Given the description of an element on the screen output the (x, y) to click on. 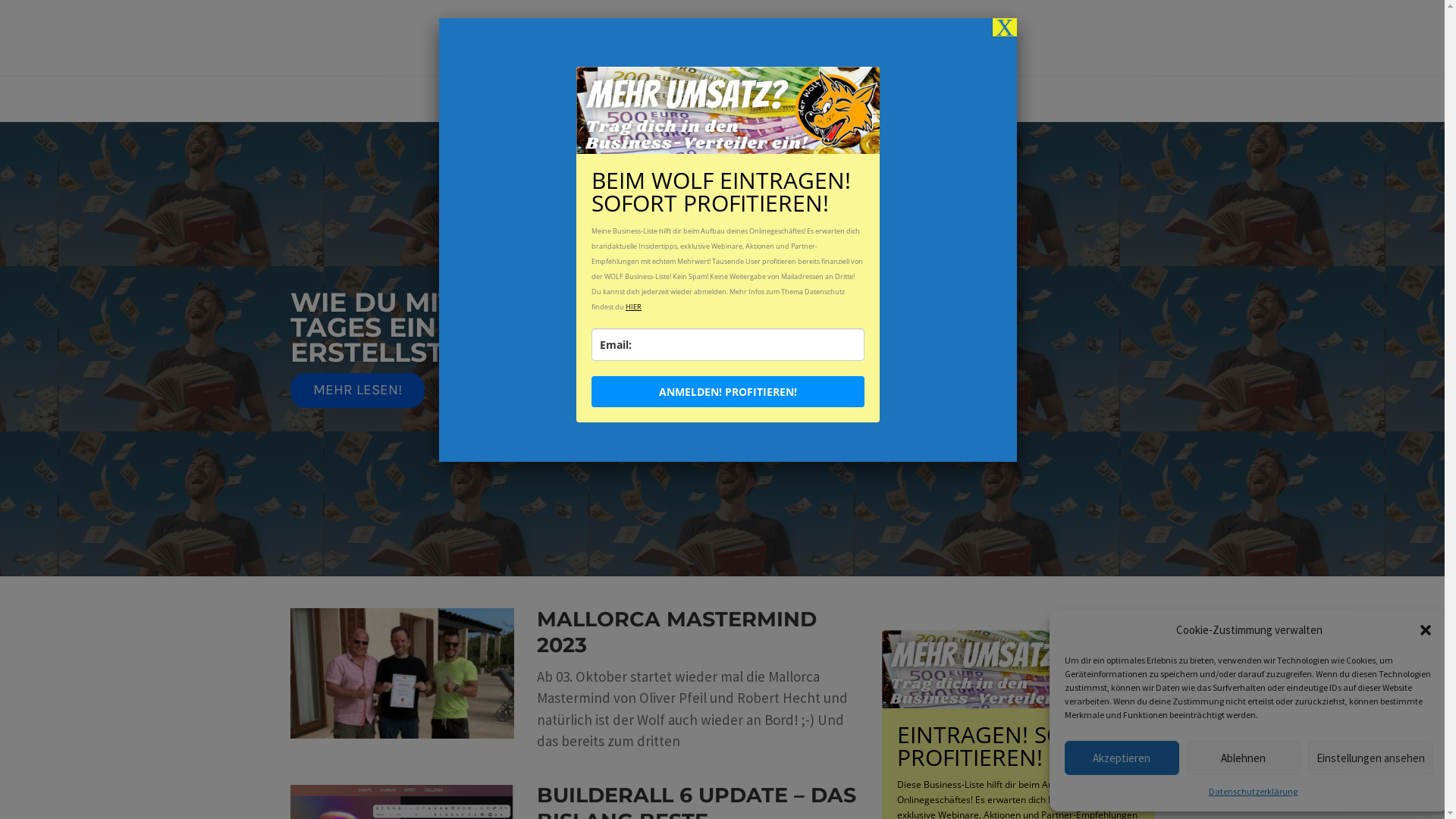
MALLORCA MASTERMIND 2023 Element type: text (676, 631)
Akzeptieren Element type: text (1121, 757)
HIER Element type: text (633, 306)
WOLF PRODUKTE Element type: text (771, 98)
Der Wolf - Digital Economy Element type: hover (727, 37)
Ablehnen Element type: text (1243, 757)
Einstellungen ansehen Element type: text (1370, 757)
X Element type: text (1004, 27)
ANMELDEN! PROFITIEREN! Element type: text (727, 391)
MAGAZIN Element type: text (536, 98)
MEHR LESEN! Element type: text (356, 390)
BUSINESS NEWS Element type: text (898, 98)
